Given the description of an element on the screen output the (x, y) to click on. 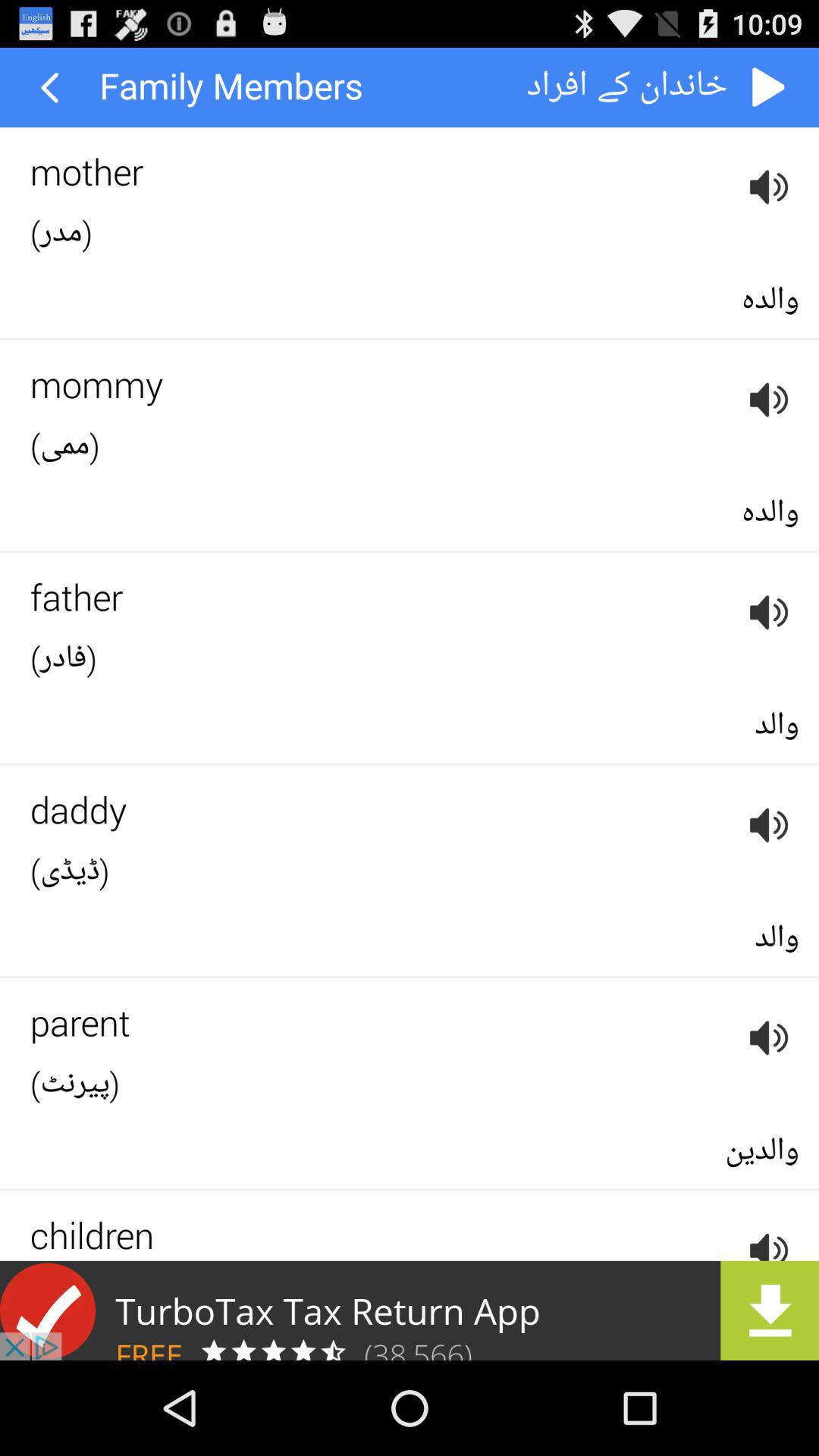
select the play (768, 87)
